Given the description of an element on the screen output the (x, y) to click on. 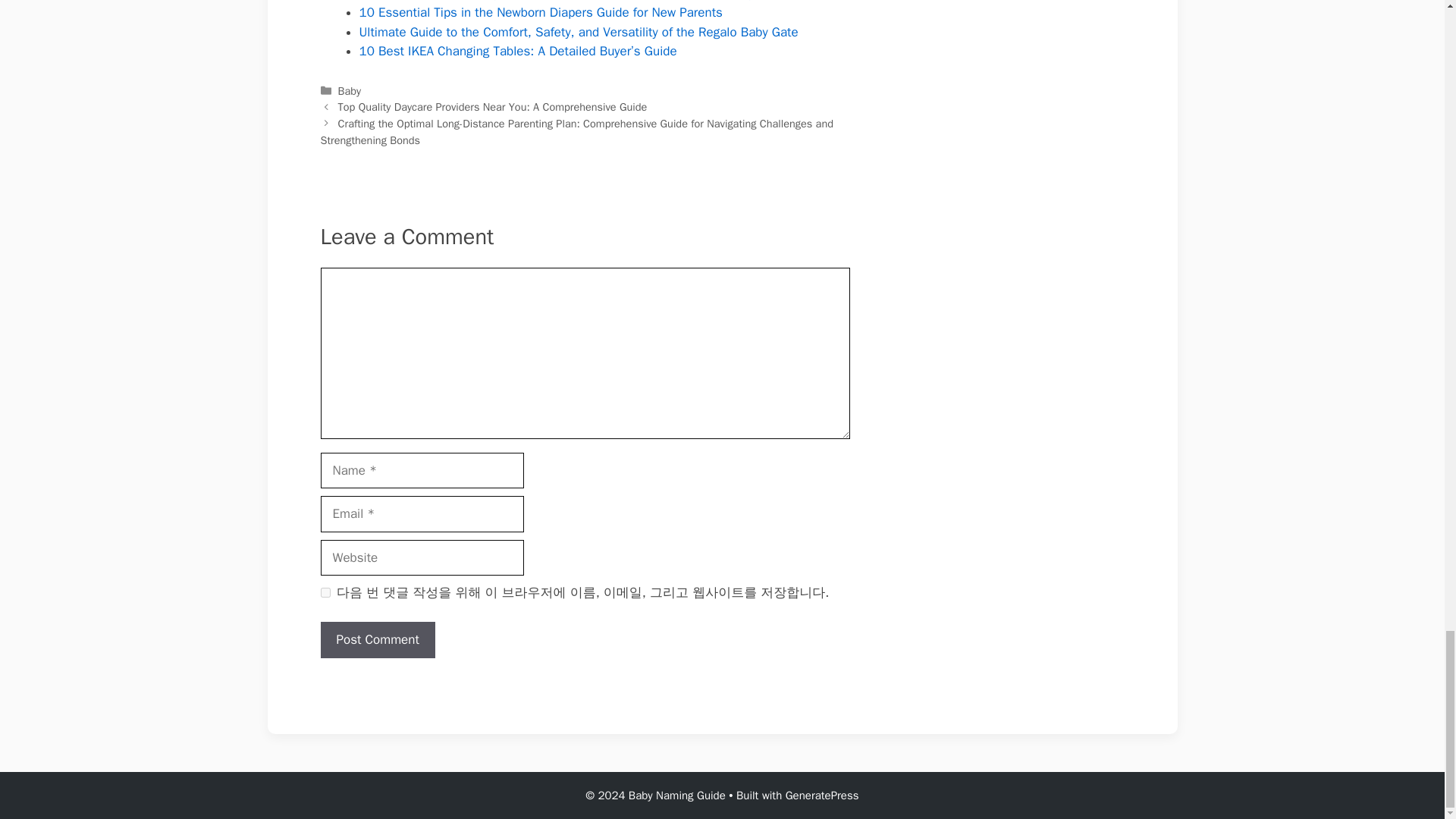
Post Comment (376, 639)
Post Comment (376, 639)
Baby (349, 90)
yes (325, 592)
